Given the description of an element on the screen output the (x, y) to click on. 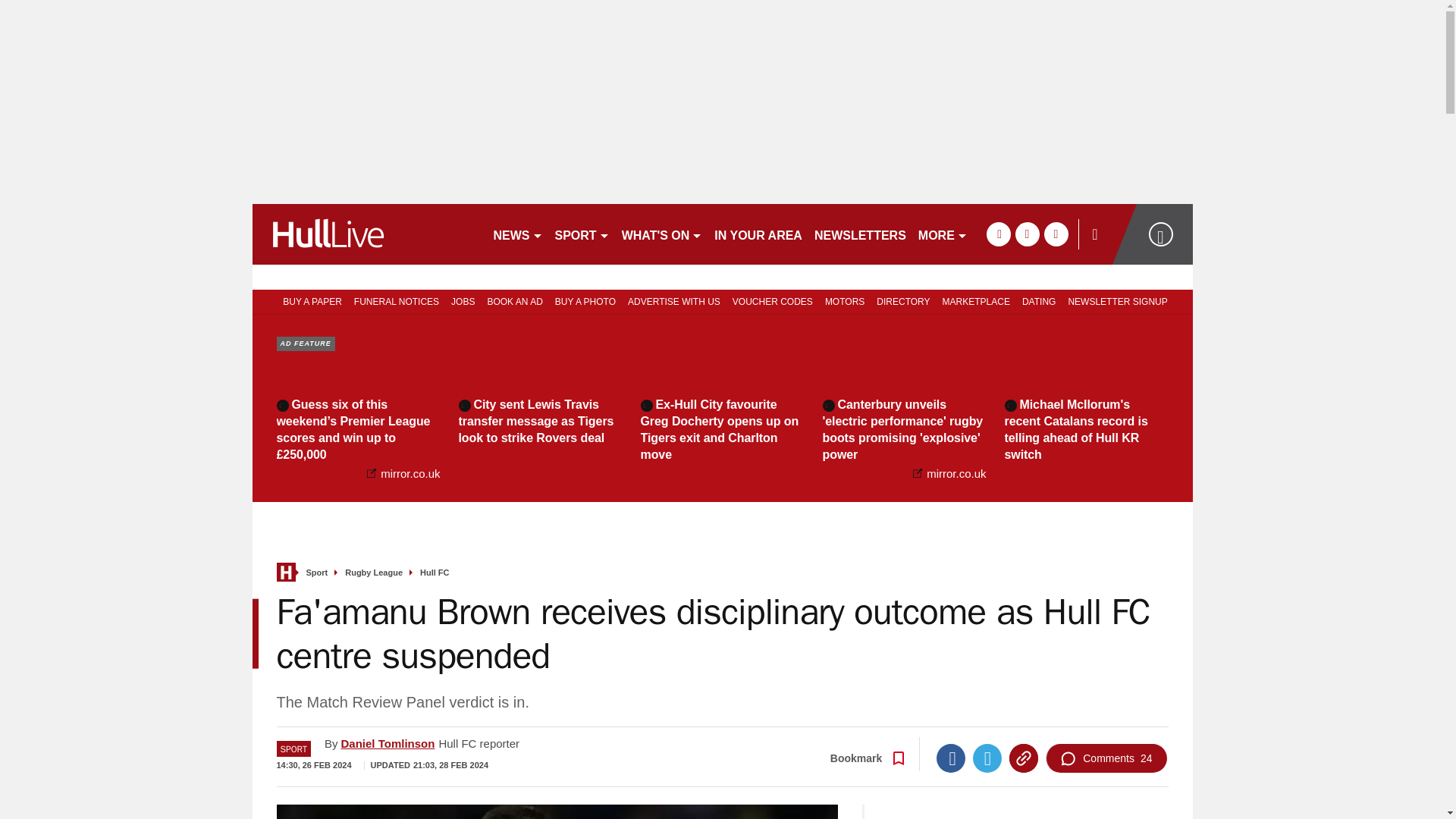
twitter (1026, 233)
Facebook (950, 758)
MORE (943, 233)
NEWS (517, 233)
Twitter (986, 758)
WHAT'S ON (662, 233)
NEWSLETTERS (860, 233)
Comments (1105, 758)
SPORT (581, 233)
instagram (1055, 233)
